Given the description of an element on the screen output the (x, y) to click on. 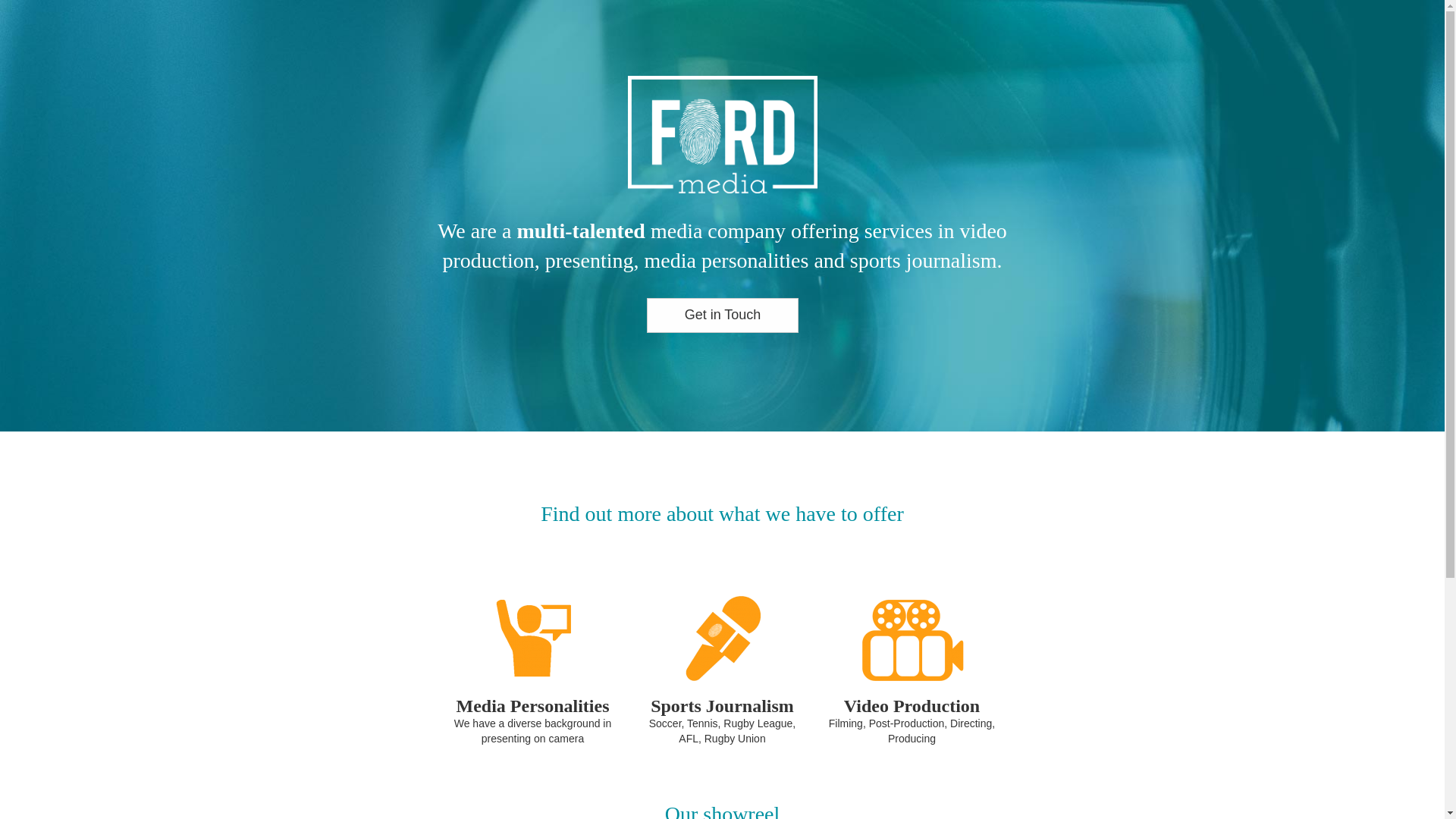
Get in Touch Element type: text (721, 315)
